Given the description of an element on the screen output the (x, y) to click on. 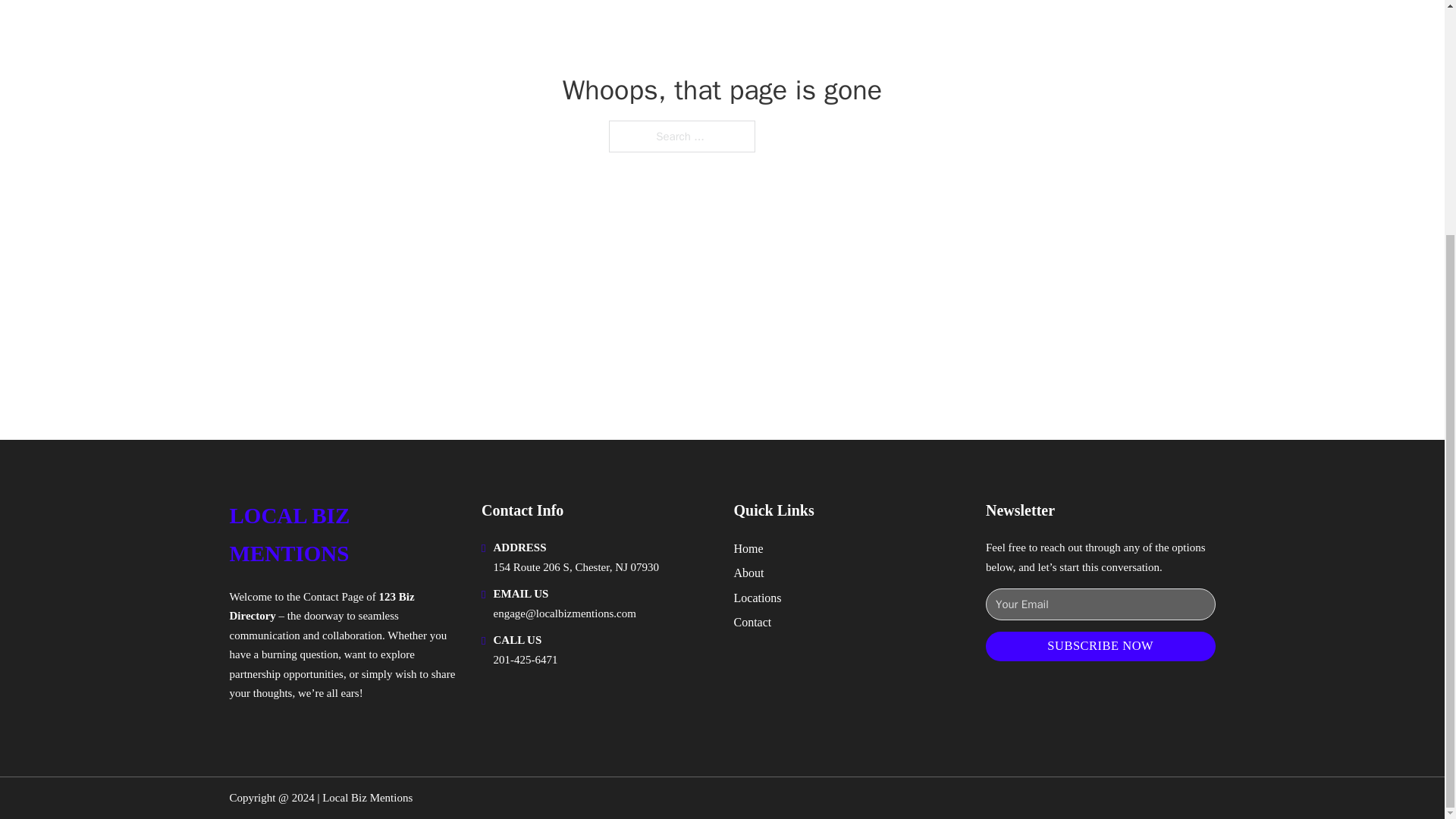
SUBSCRIBE NOW (1100, 645)
Home (747, 548)
Contact (752, 621)
Locations (757, 598)
201-425-6471 (525, 659)
LOCAL BIZ MENTIONS (343, 534)
About (748, 572)
